Given the description of an element on the screen output the (x, y) to click on. 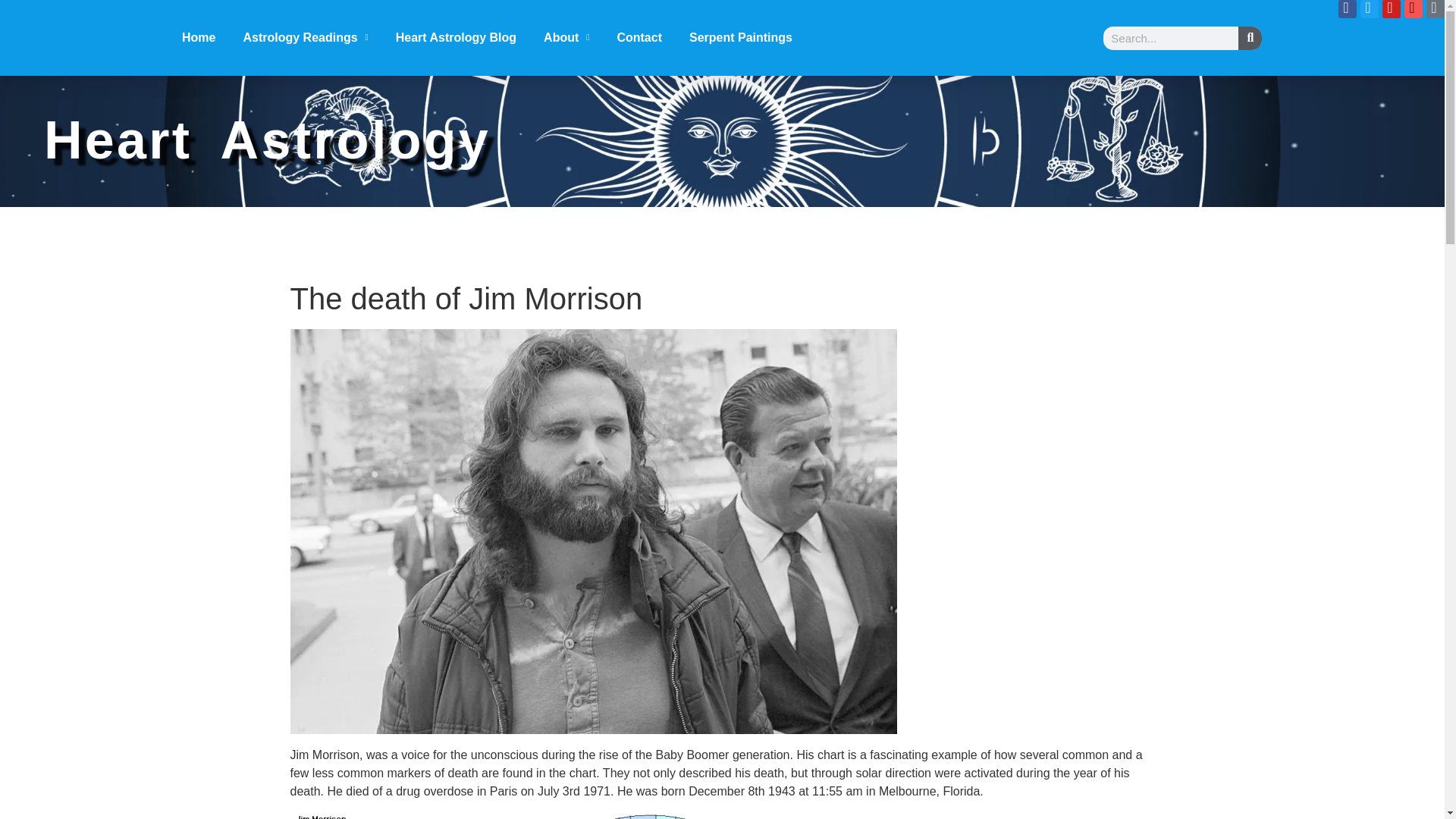
Serpent Paintings (740, 37)
Astrology Readings (305, 37)
Heart Astrology Blog (456, 37)
